Given the description of an element on the screen output the (x, y) to click on. 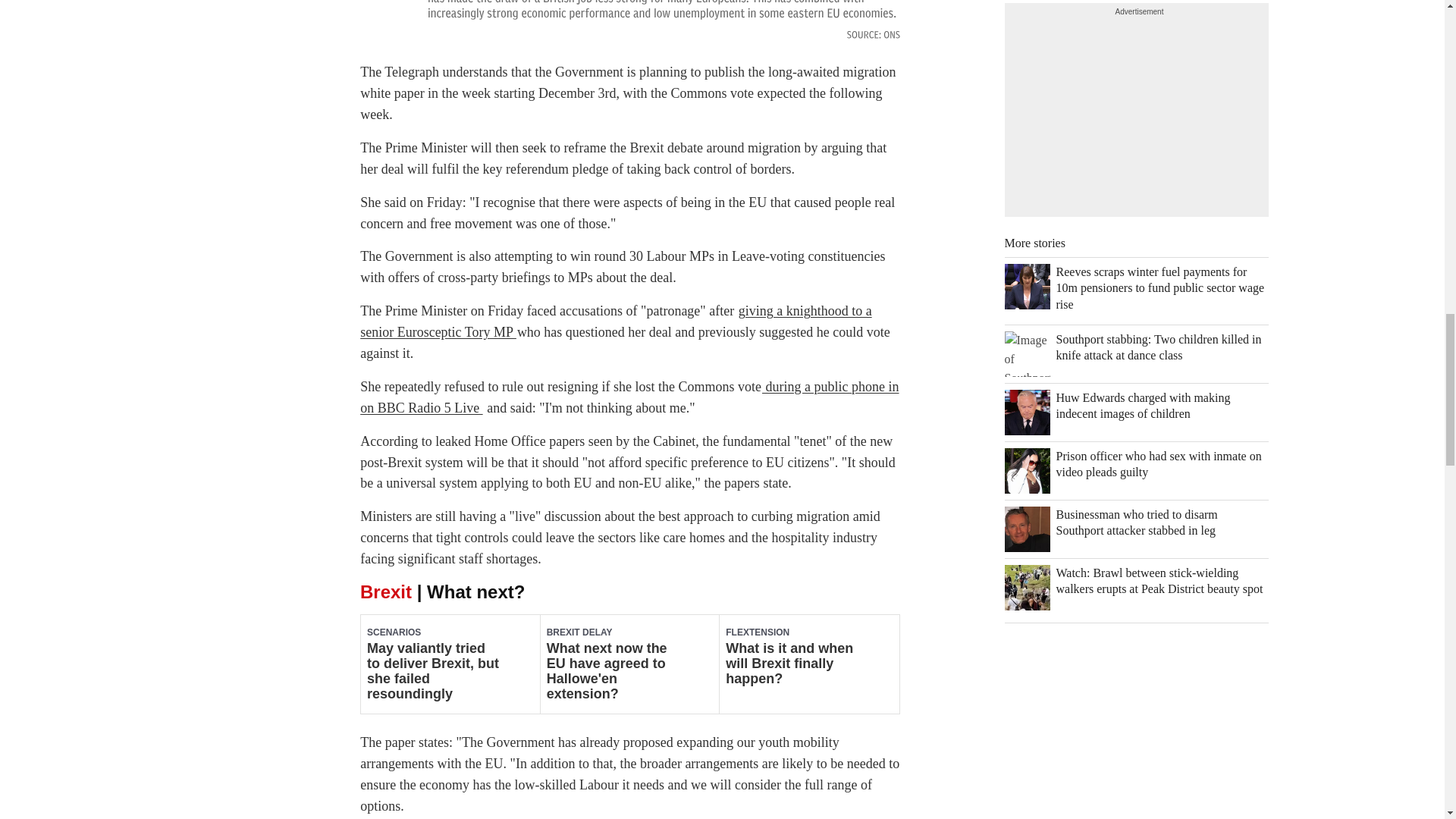
UK net migration (629, 22)
